Given the description of an element on the screen output the (x, y) to click on. 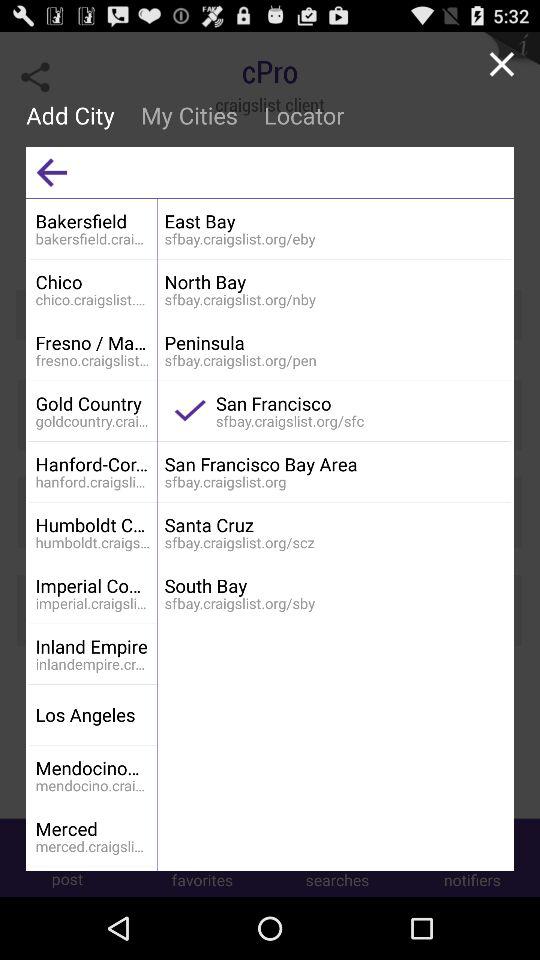
scroll until the hanford-corcoran app (92, 463)
